Given the description of an element on the screen output the (x, y) to click on. 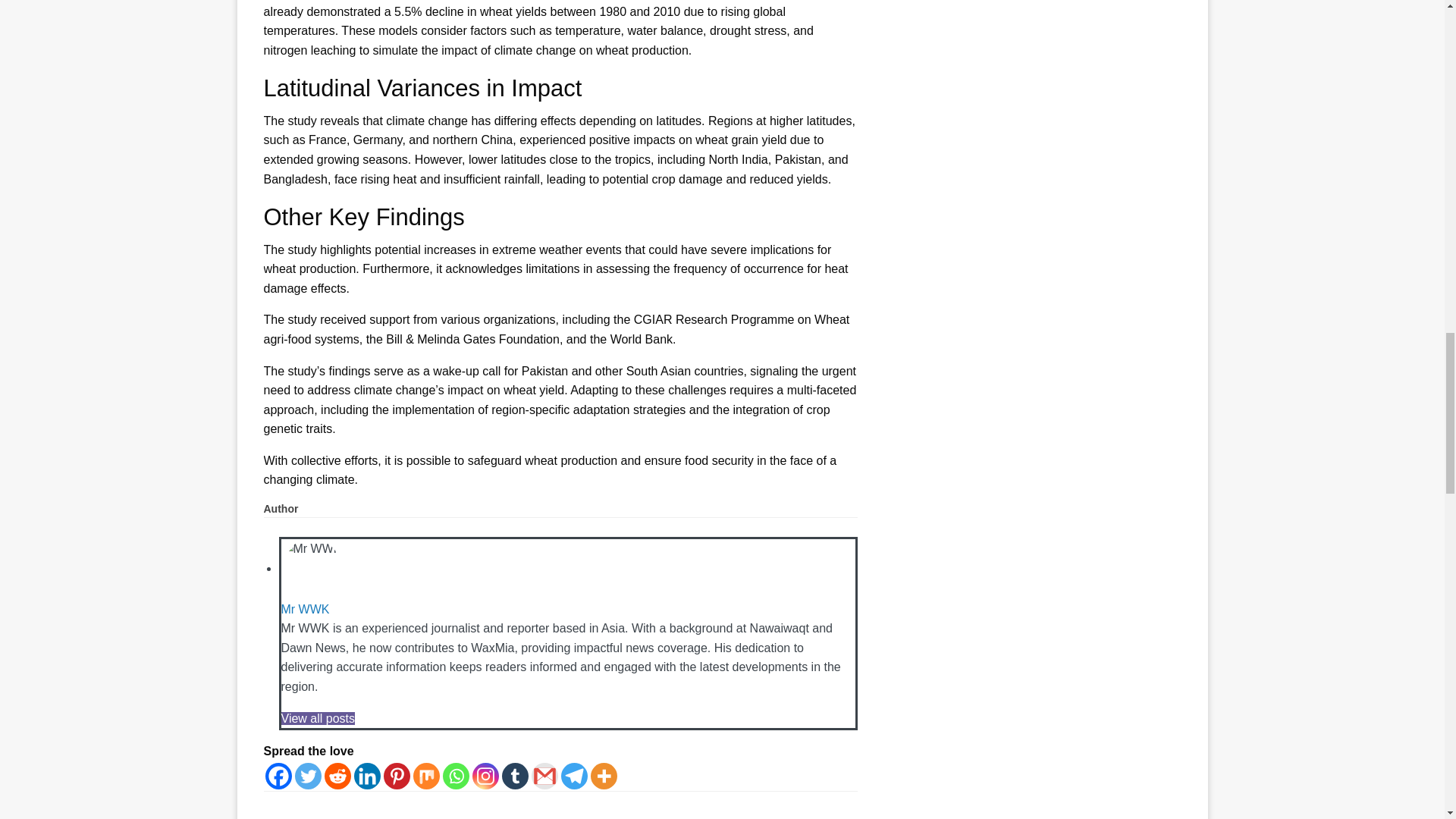
View all posts (318, 717)
Whatsapp (455, 775)
Pinterest (397, 775)
Twitter (307, 775)
Mr WWK (305, 608)
Linkedin (366, 775)
Mix (425, 775)
Reddit (337, 775)
Facebook (278, 775)
Instagram (484, 775)
